Given the description of an element on the screen output the (x, y) to click on. 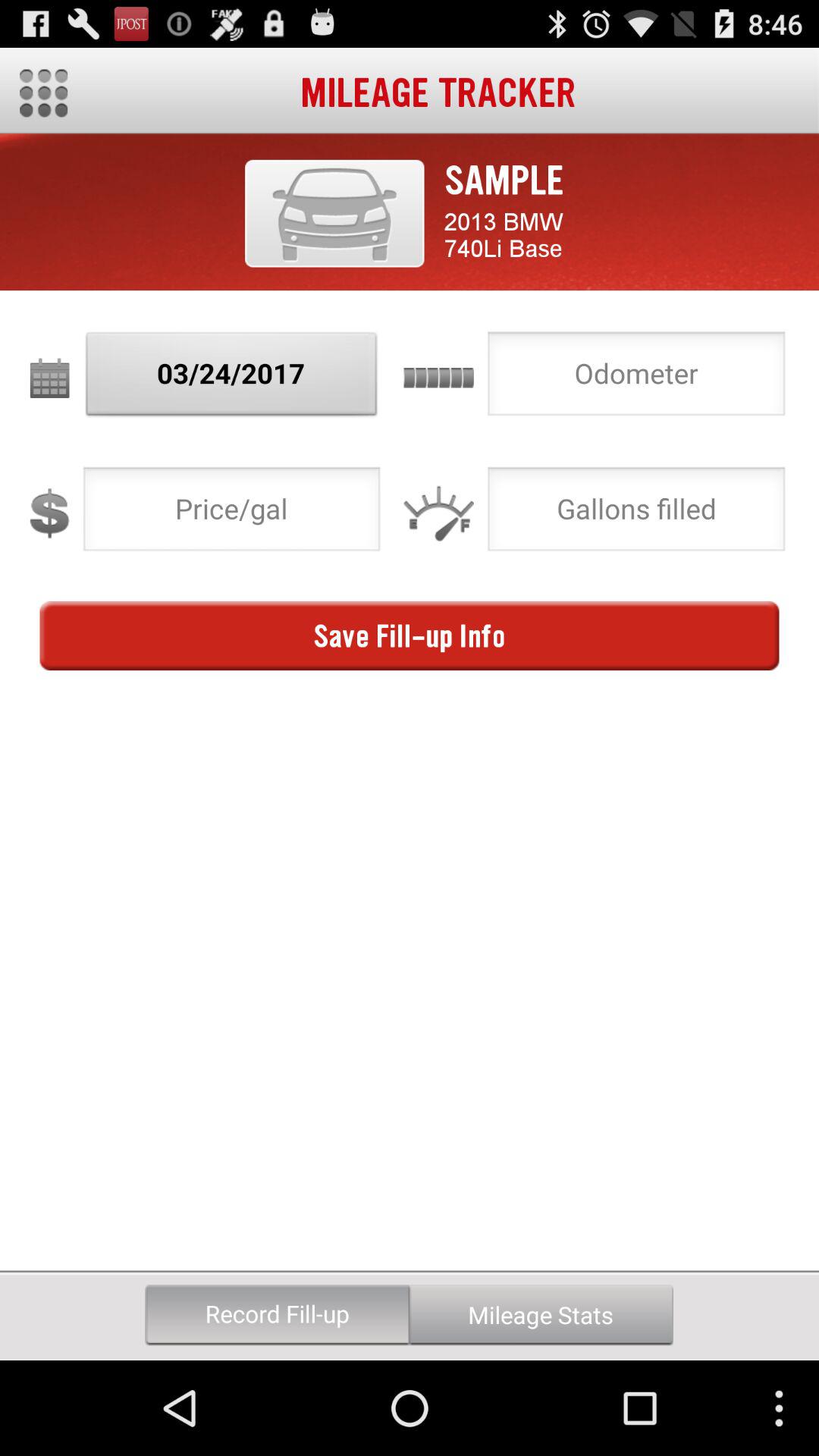
image of car (334, 213)
